Given the description of an element on the screen output the (x, y) to click on. 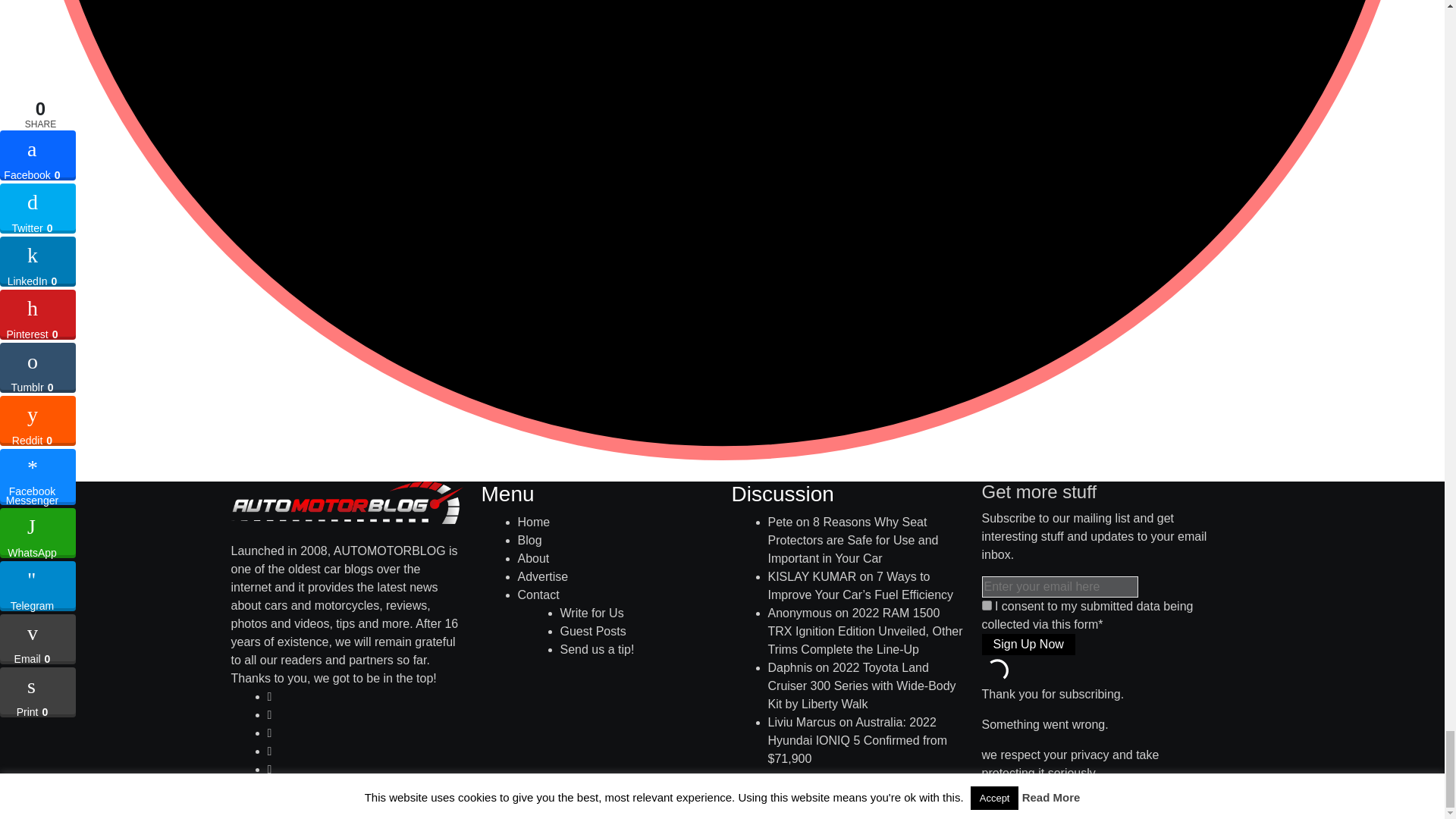
Sign Up Now (1027, 644)
on (986, 605)
